Given the description of an element on the screen output the (x, y) to click on. 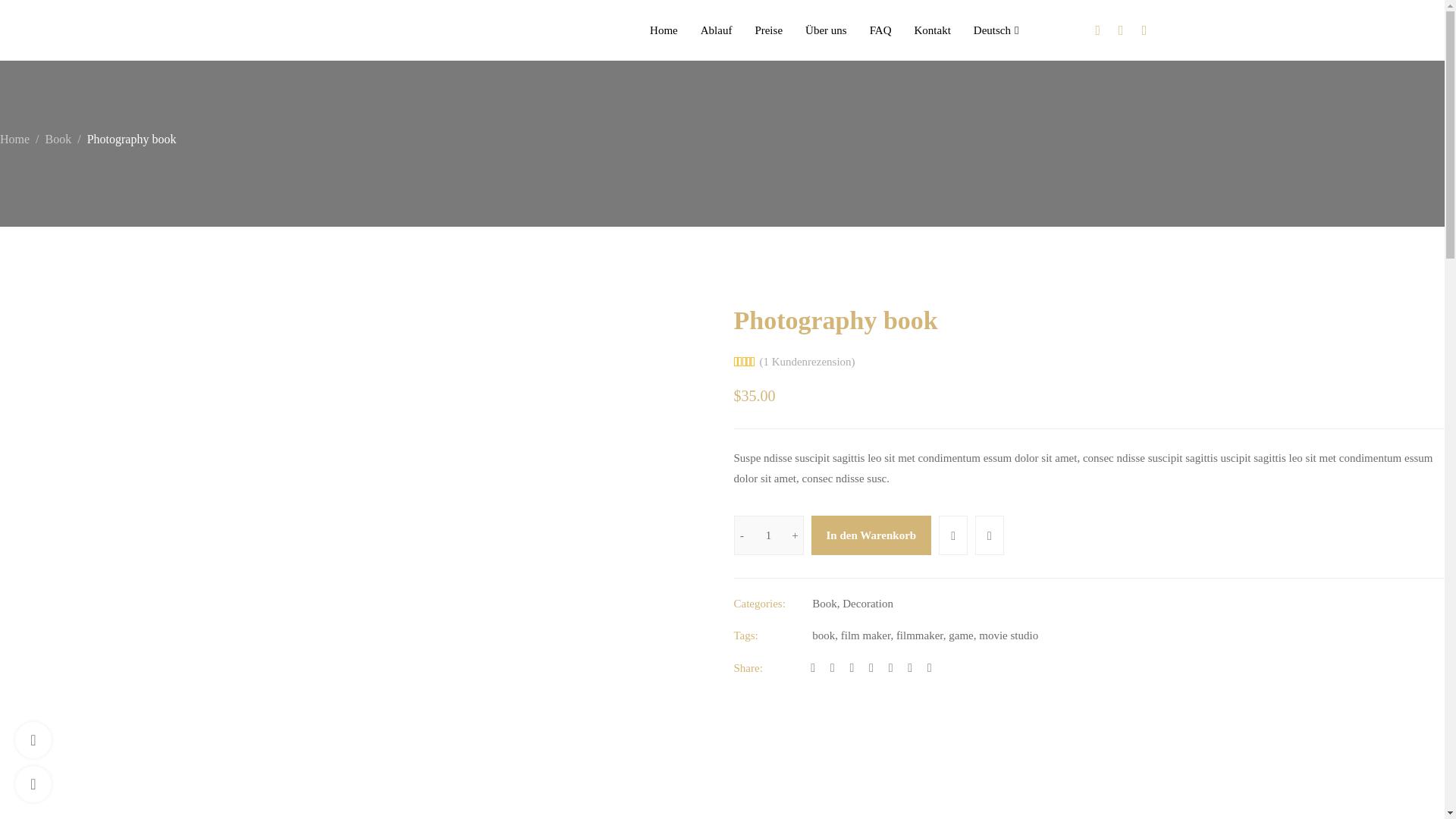
Deutsch (996, 29)
Home (663, 29)
FAQ (880, 29)
Kontakt (932, 29)
Qty (768, 535)
Book (58, 138)
Book (824, 603)
movie studio (1008, 635)
Home (14, 138)
In den Warenkorb (870, 535)
Preise (767, 29)
Decoration (868, 603)
film maker (866, 635)
game (960, 635)
book (823, 635)
